Given the description of an element on the screen output the (x, y) to click on. 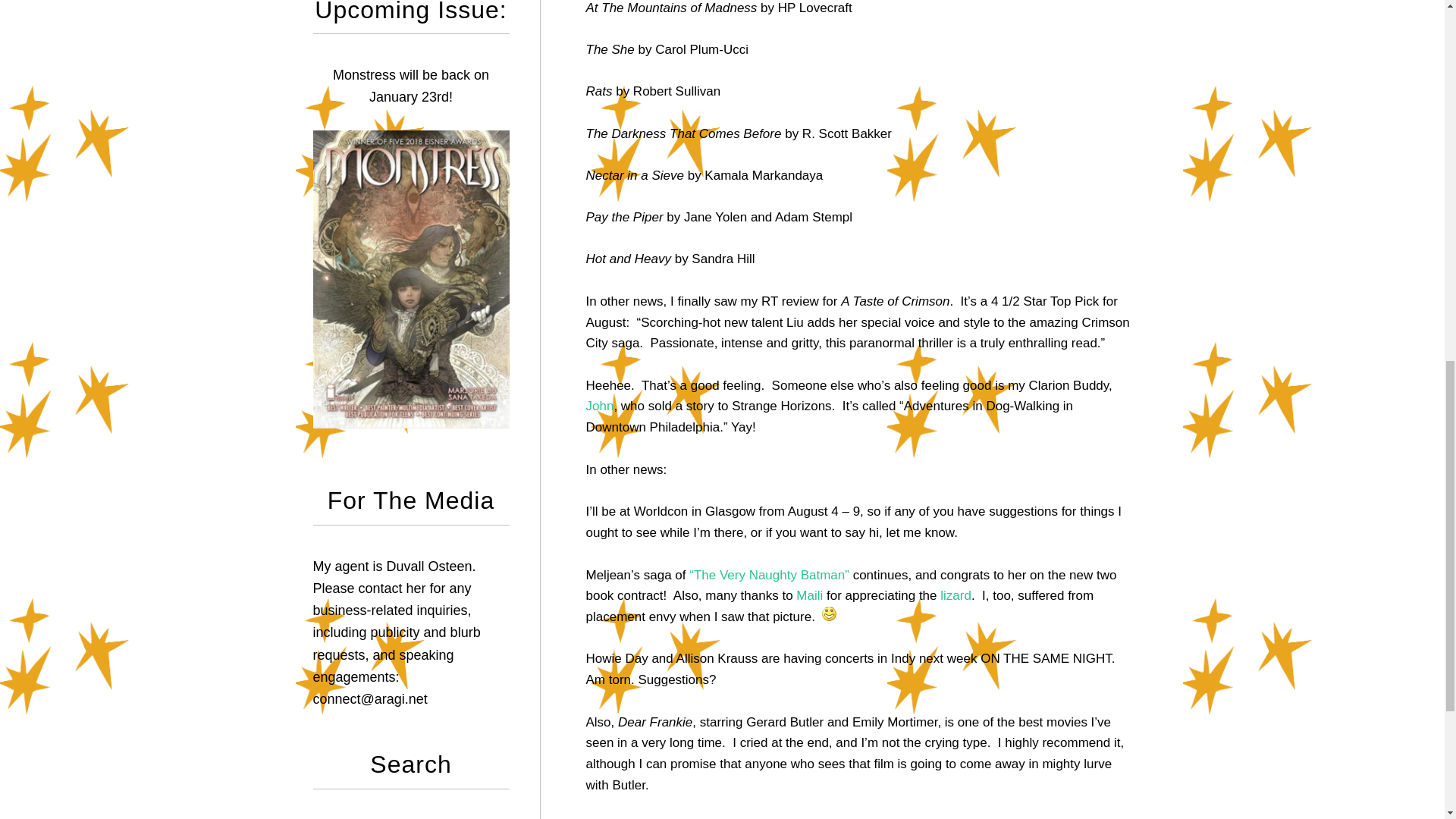
Maili (809, 595)
John (598, 405)
lizard (955, 595)
